Given the description of an element on the screen output the (x, y) to click on. 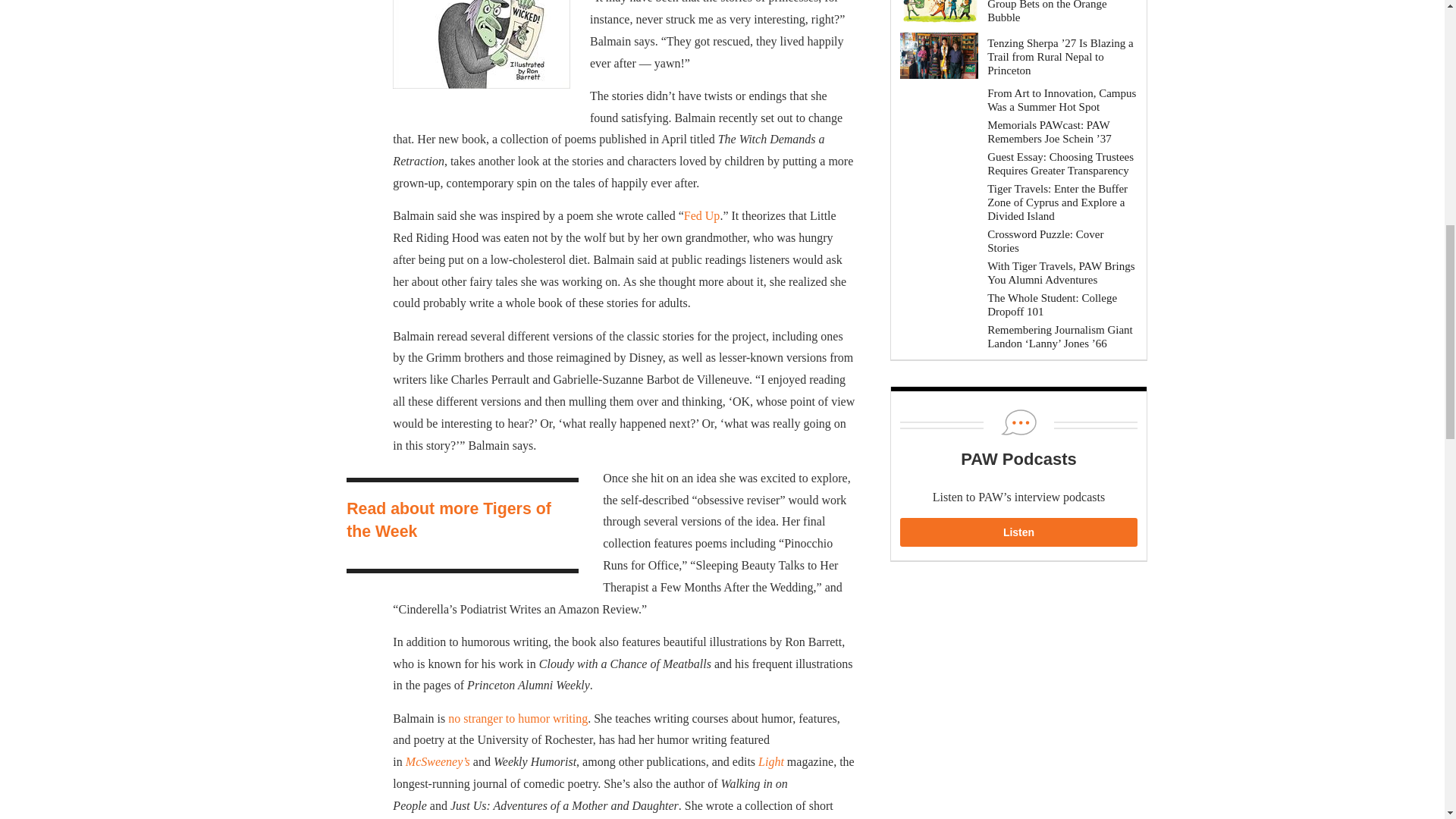
no stranger to humor writing (518, 717)
Read about more Tigers of the Week (448, 519)
Light (771, 761)
Fed Up (702, 215)
